Given the description of an element on the screen output the (x, y) to click on. 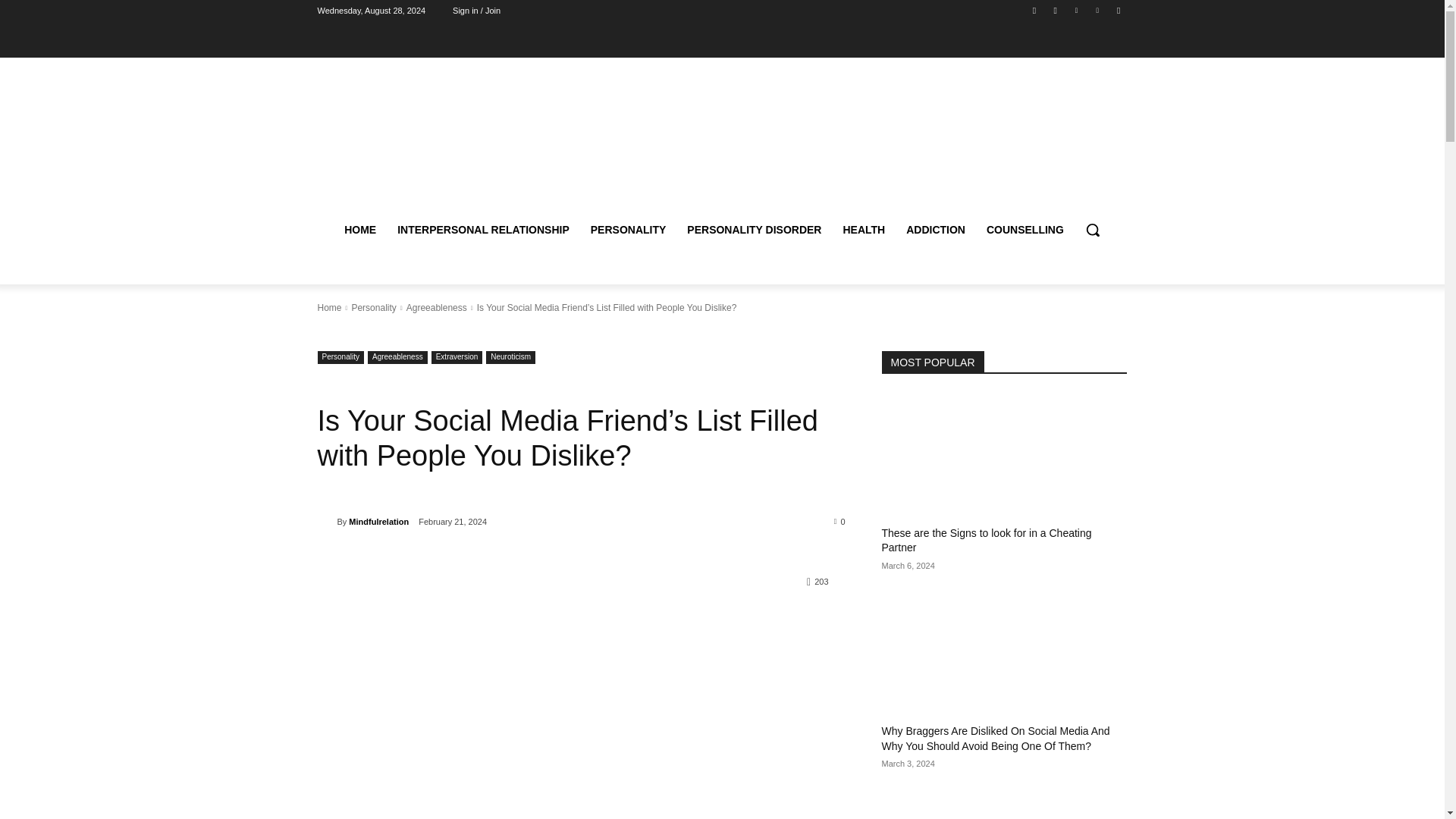
Twitter (1117, 9)
PERSONALITY DISORDER (754, 229)
HEALTH (863, 229)
Facebook (1034, 9)
PERSONALITY (628, 229)
Instagram (1055, 9)
Personality (373, 307)
Personality (339, 357)
Home (328, 307)
Linkedin (1075, 9)
